Given the description of an element on the screen output the (x, y) to click on. 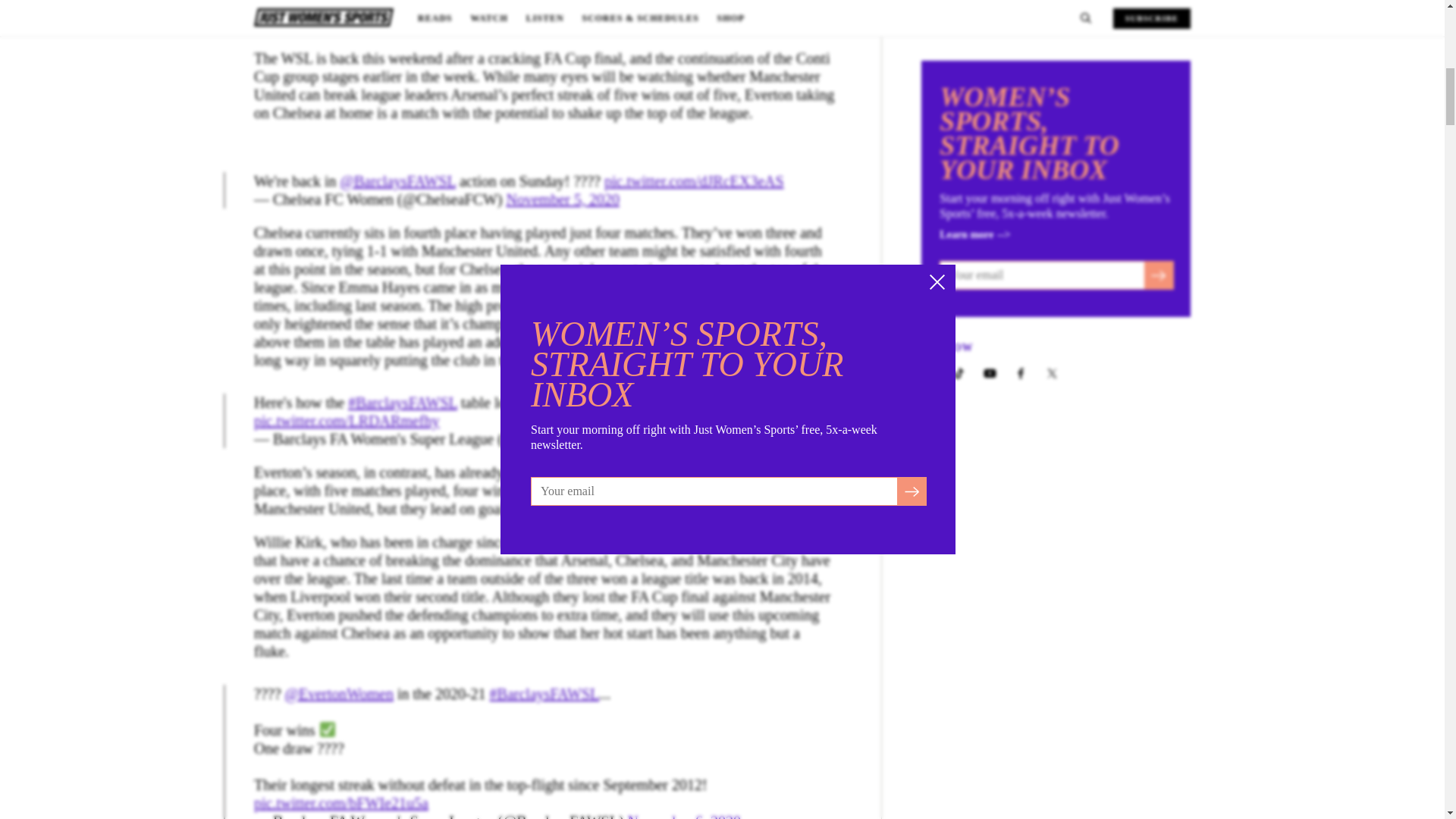
October 18, 2020 (680, 438)
The FA Player (418, 25)
November 5, 2020 (563, 199)
